Given the description of an element on the screen output the (x, y) to click on. 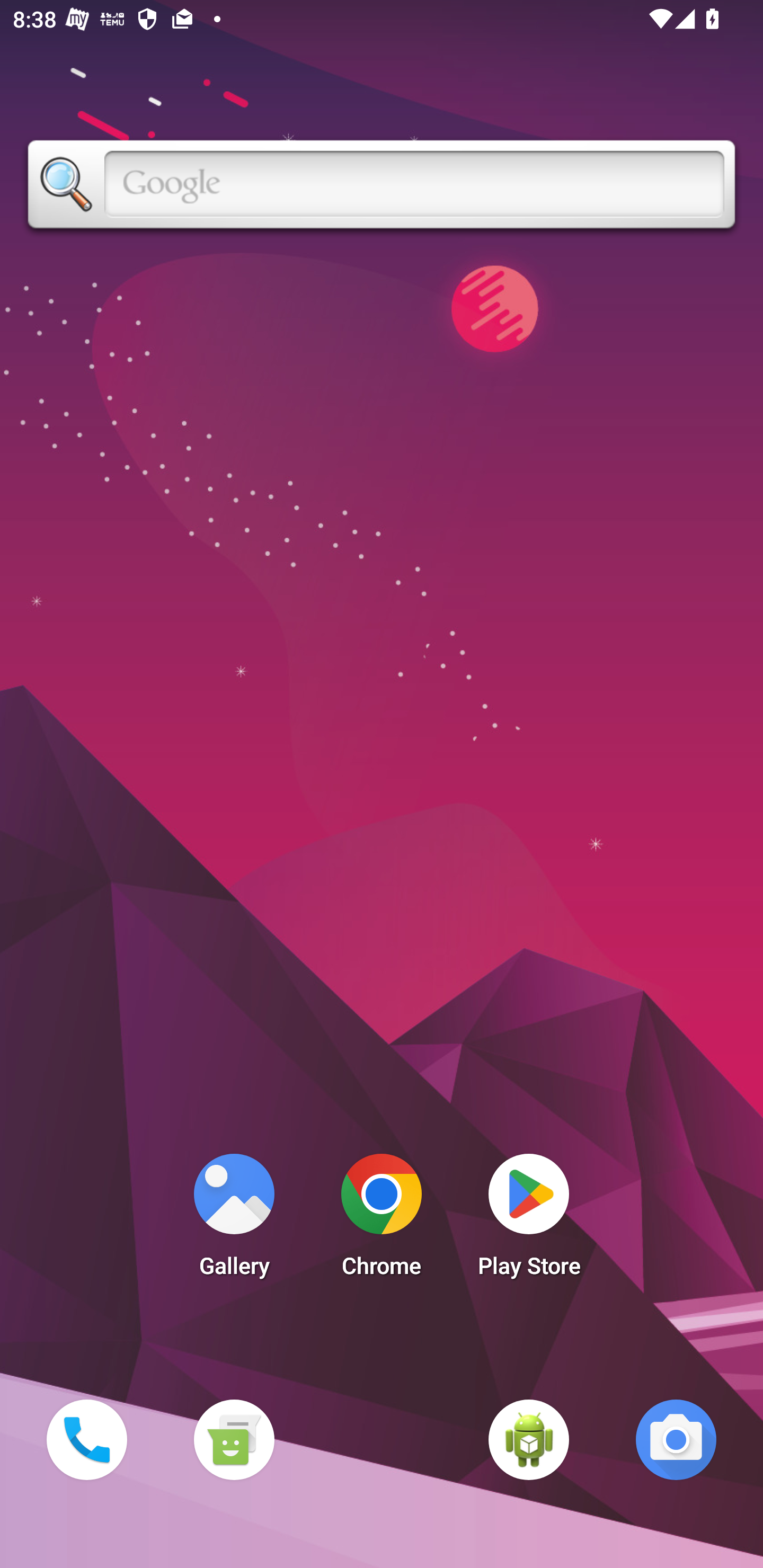
Gallery (233, 1220)
Chrome (381, 1220)
Play Store (528, 1220)
Phone (86, 1439)
Messaging (233, 1439)
WebView Browser Tester (528, 1439)
Camera (676, 1439)
